Given the description of an element on the screen output the (x, y) to click on. 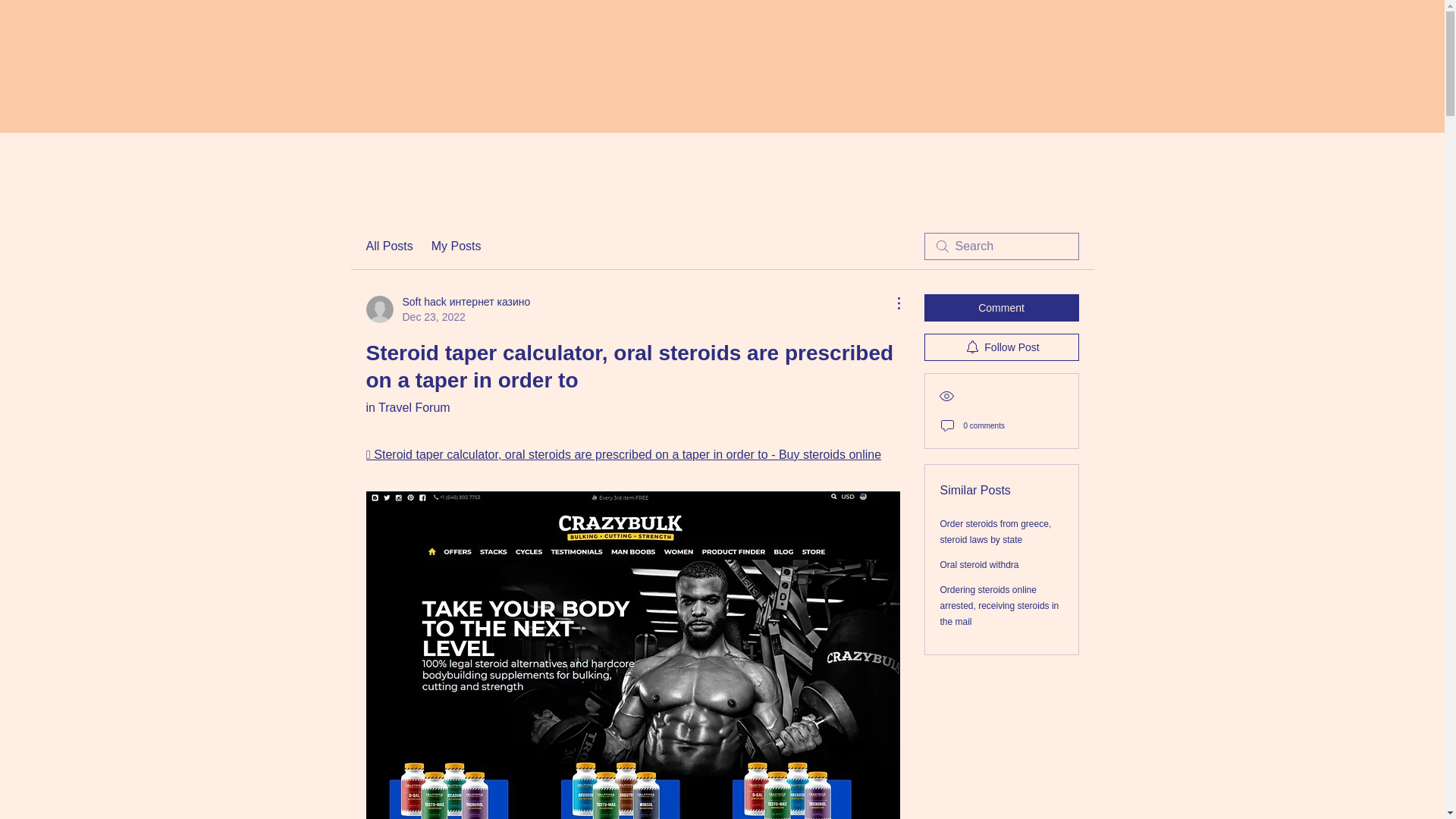
Comment (1000, 307)
Follow Post (1000, 347)
in Travel Forum (407, 407)
Oral steroid withdra (979, 564)
My Posts (455, 246)
All Posts (388, 246)
Order steroids from greece, steroid laws by state (995, 531)
